Given the description of an element on the screen output the (x, y) to click on. 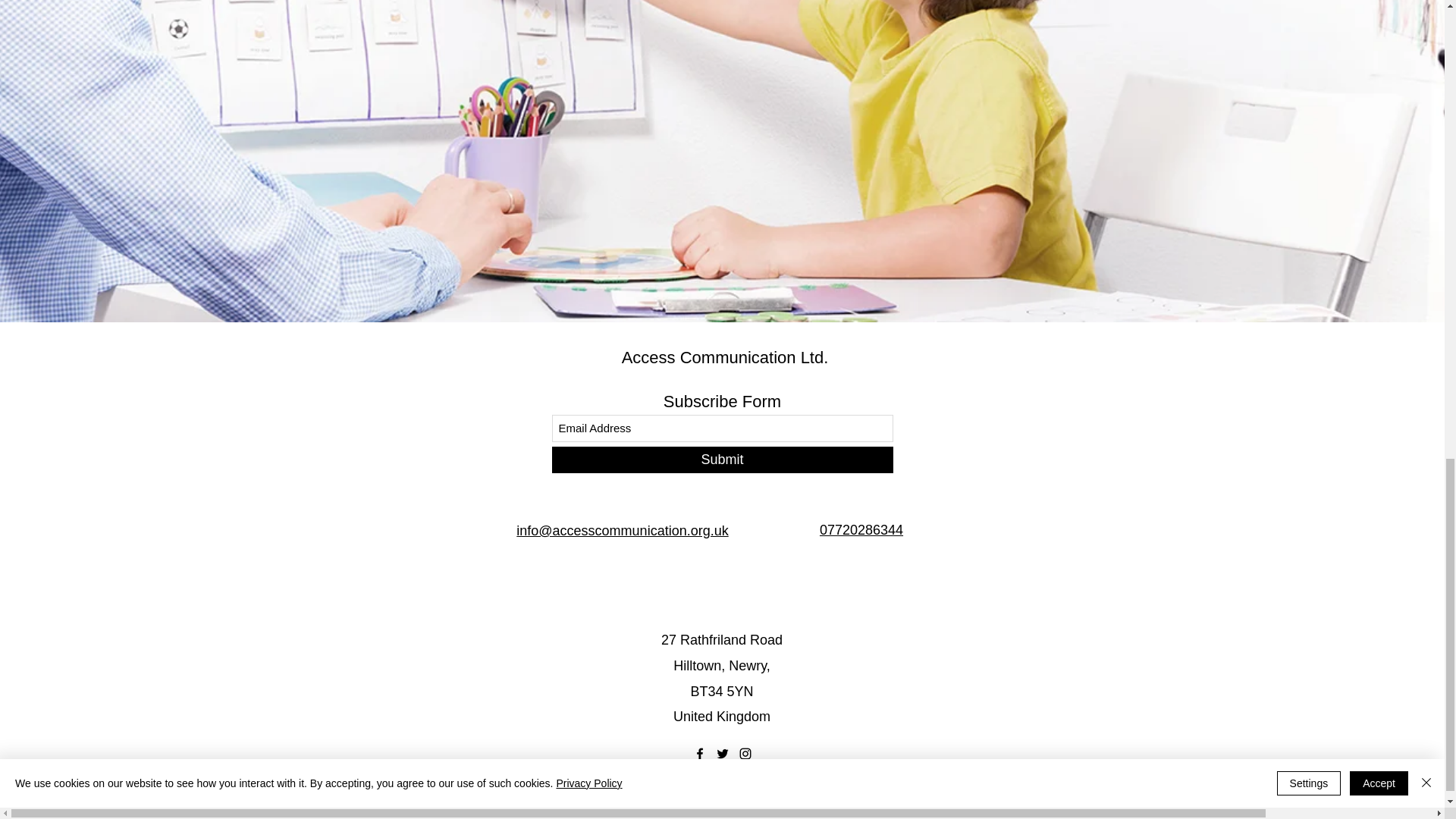
07720286344 (860, 529)
Submit (722, 459)
